Given the description of an element on the screen output the (x, y) to click on. 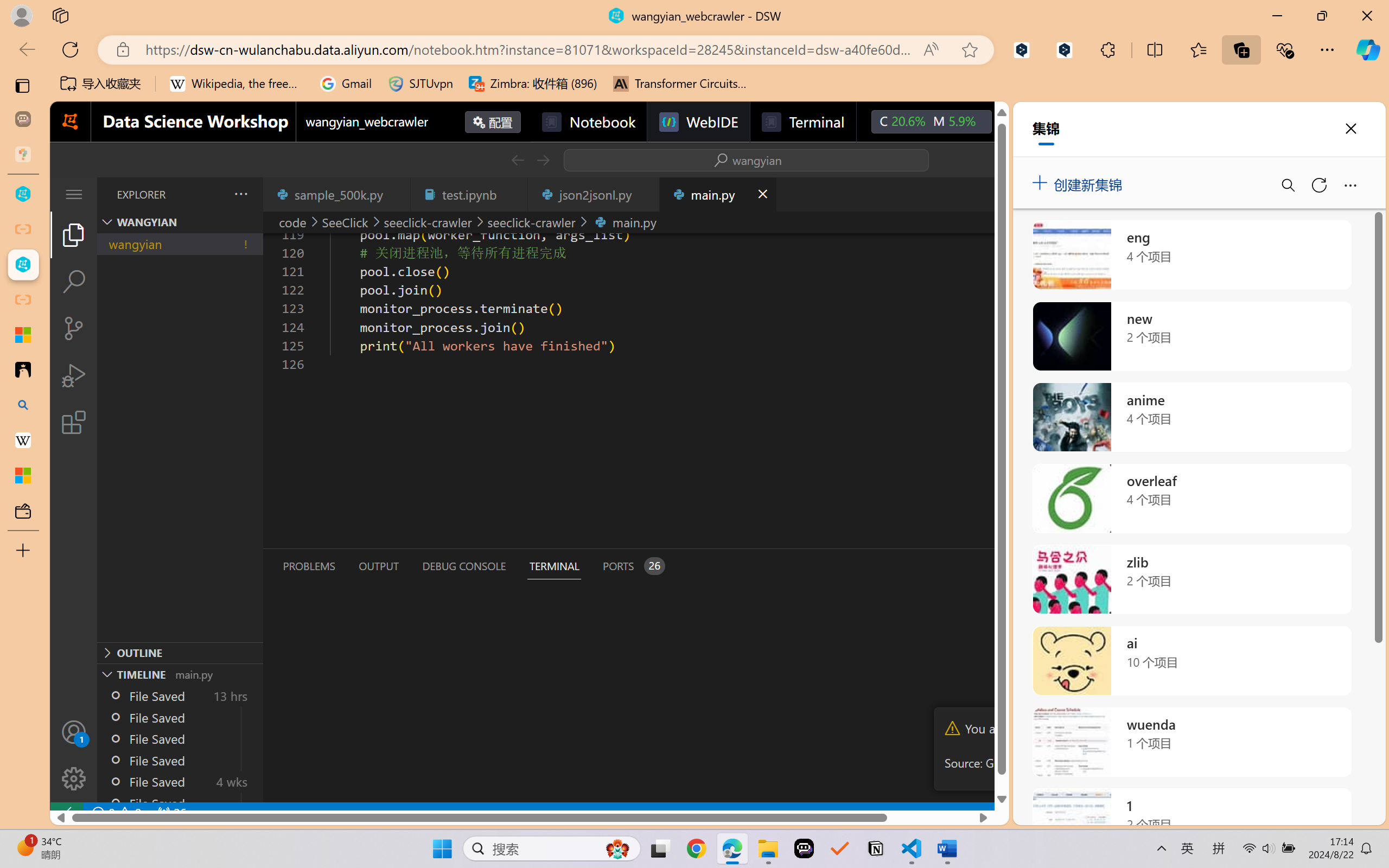
Go Forward (Alt+RightArrow) (541, 159)
Ports - 26 forwarded ports (632, 565)
sample_500k.py (336, 194)
Source Control (Ctrl+Shift+G) (73, 328)
Accounts - Sign in requested (73, 732)
Tab actions (762, 194)
